Given the description of an element on the screen output the (x, y) to click on. 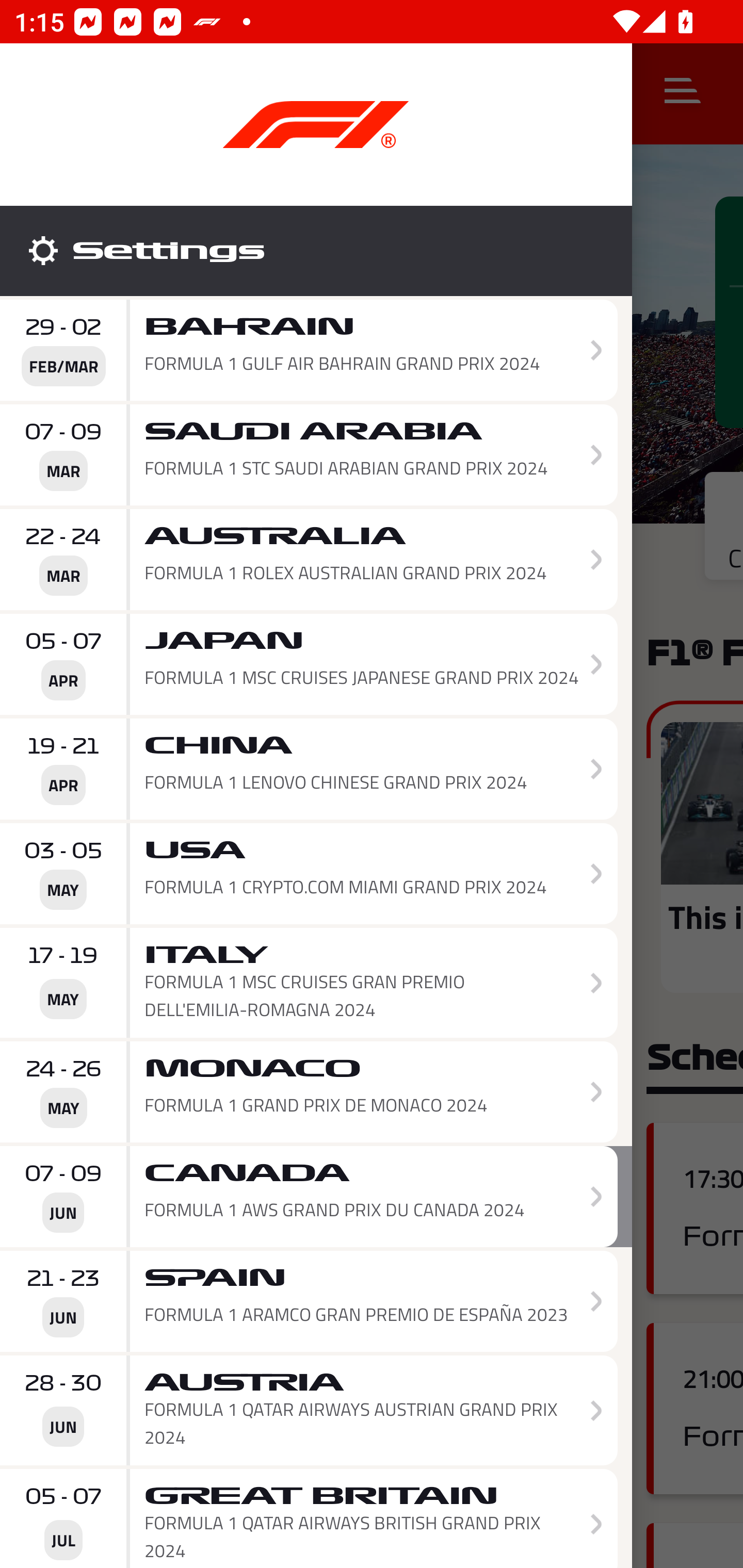
Settings (316, 250)
